Given the description of an element on the screen output the (x, y) to click on. 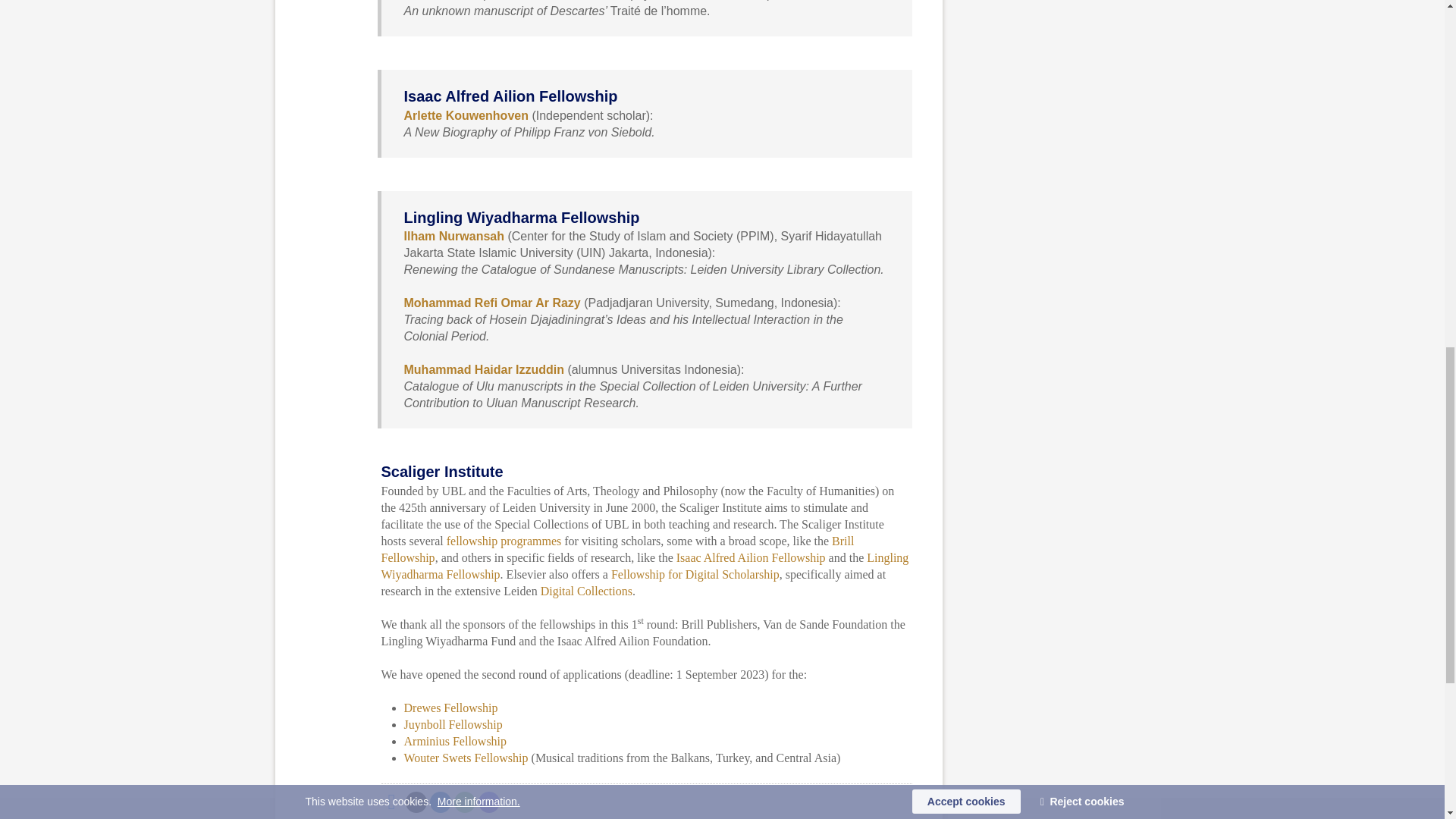
Share by WhatsApp (463, 802)
Share on Facebook (390, 802)
Mohammad Refi Omar Ar Razy (491, 302)
Share by Mastodon (488, 802)
Share on X (415, 802)
Ilham Nurwansah (453, 236)
Arlette Kouwenhoven (465, 115)
Share on LinkedIn (439, 802)
Muhammad Haidar Izzuddin (483, 369)
